Given the description of an element on the screen output the (x, y) to click on. 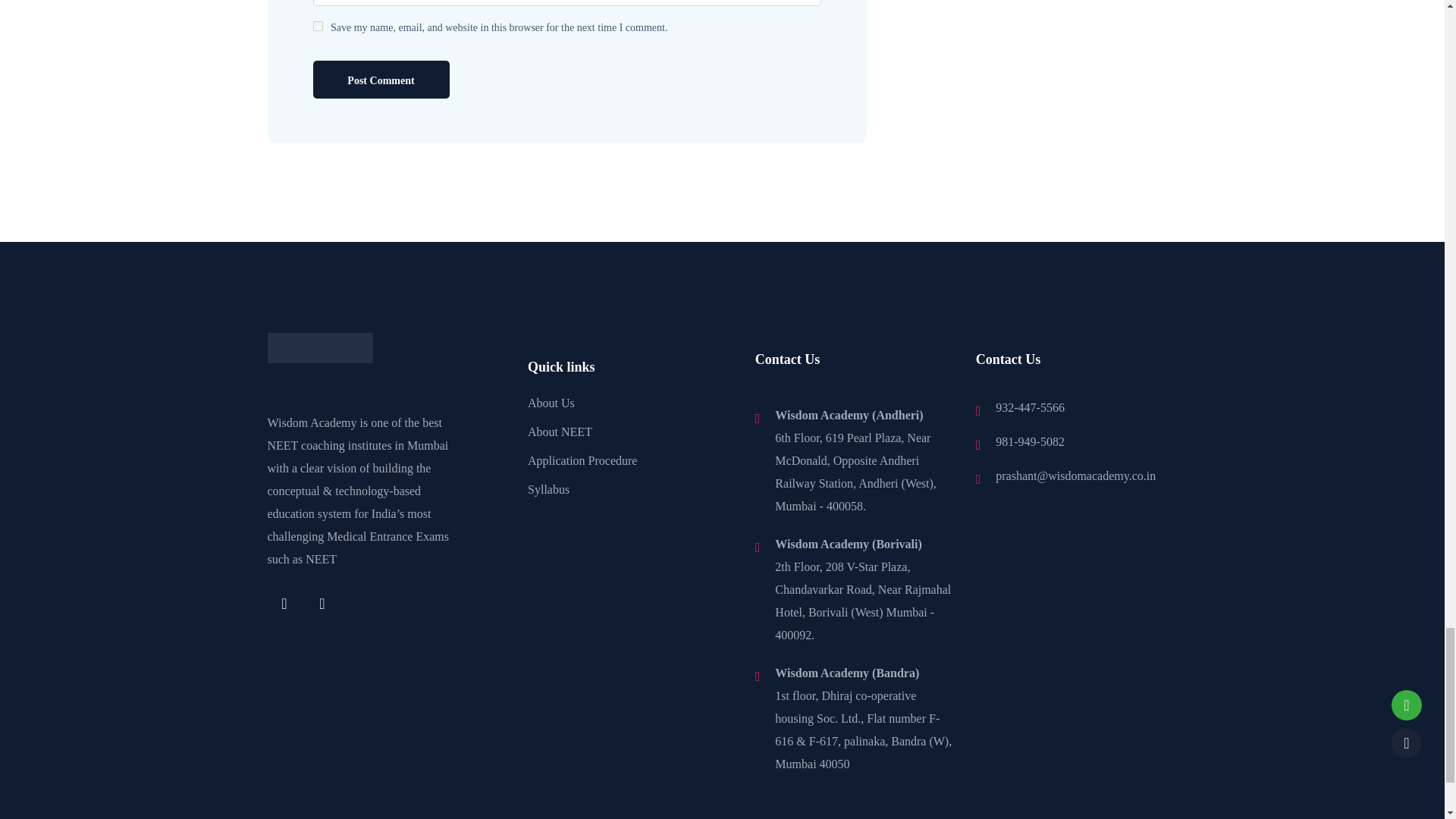
Instagram (321, 602)
Facebook (283, 602)
Post Comment (380, 79)
yes (317, 26)
